Given the description of an element on the screen output the (x, y) to click on. 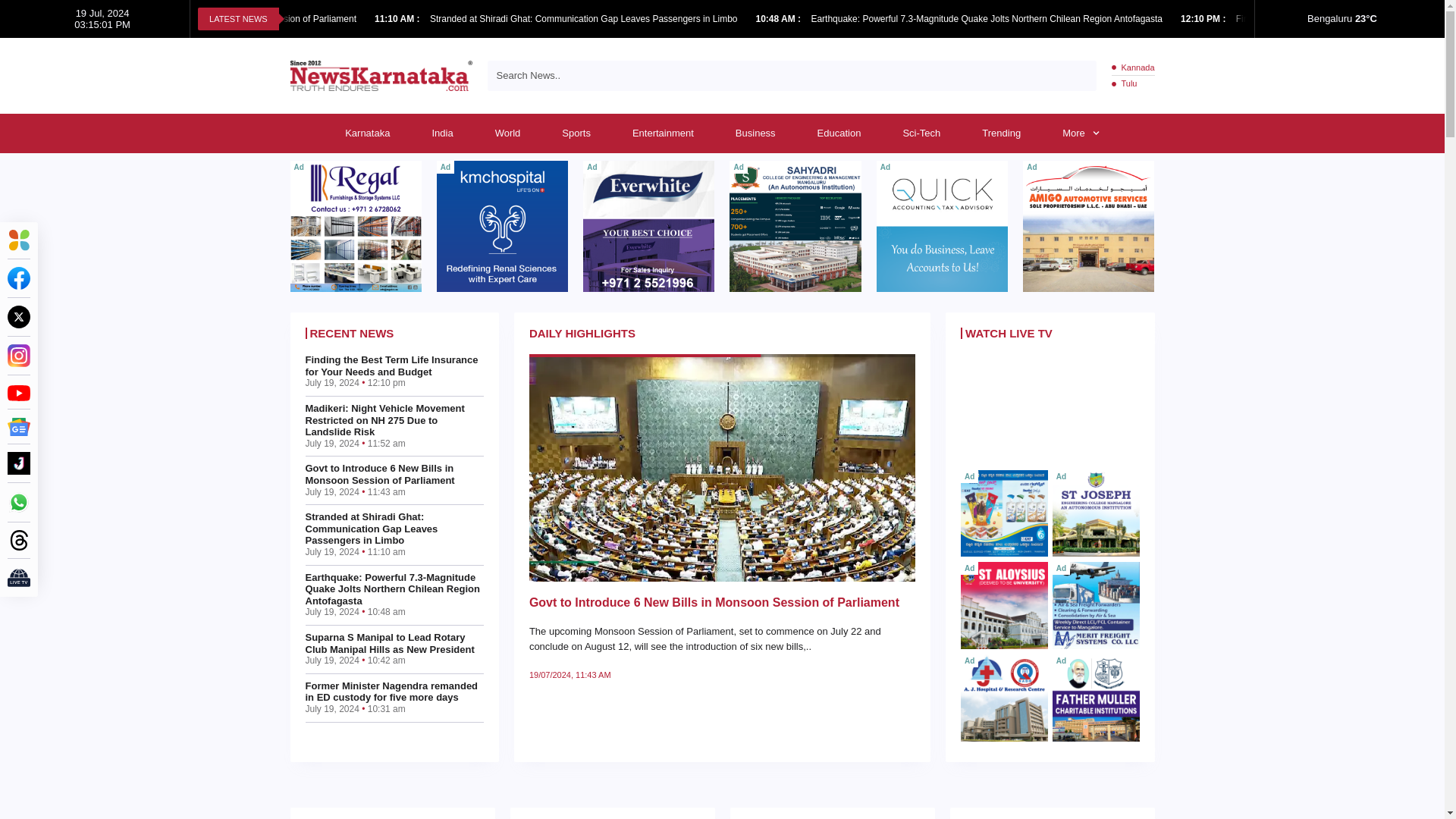
Published on: July 19, 2024 12:10 pm (1204, 18)
Published on: July 19, 2024 11:10 am (398, 18)
Published on: July 19, 2024 10:48 am (779, 18)
